Given the description of an element on the screen output the (x, y) to click on. 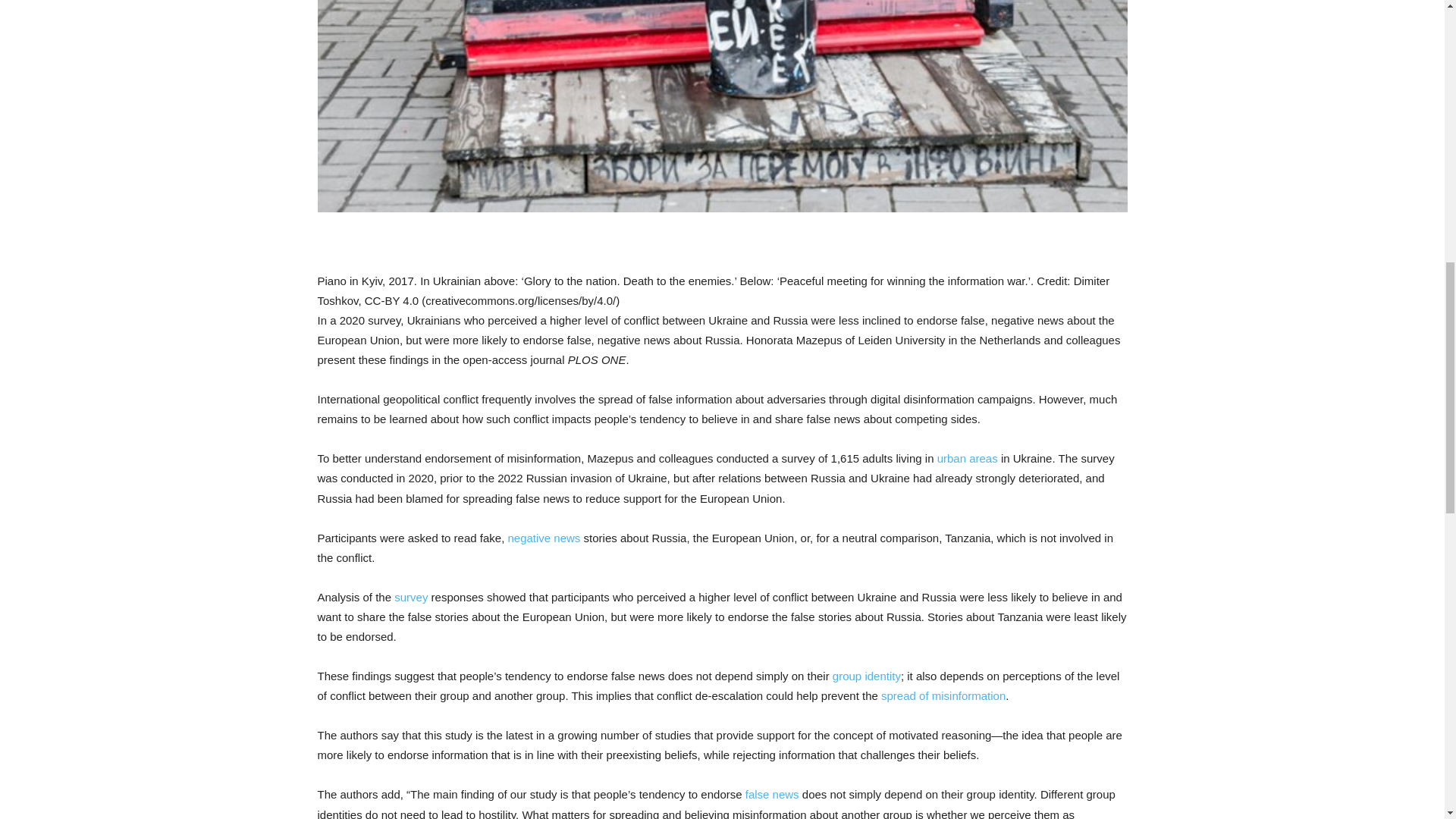
group identity (866, 675)
survey (411, 596)
false news (772, 793)
urban areas (967, 458)
spread of misinformation (943, 695)
negative news (542, 537)
